Given the description of an element on the screen output the (x, y) to click on. 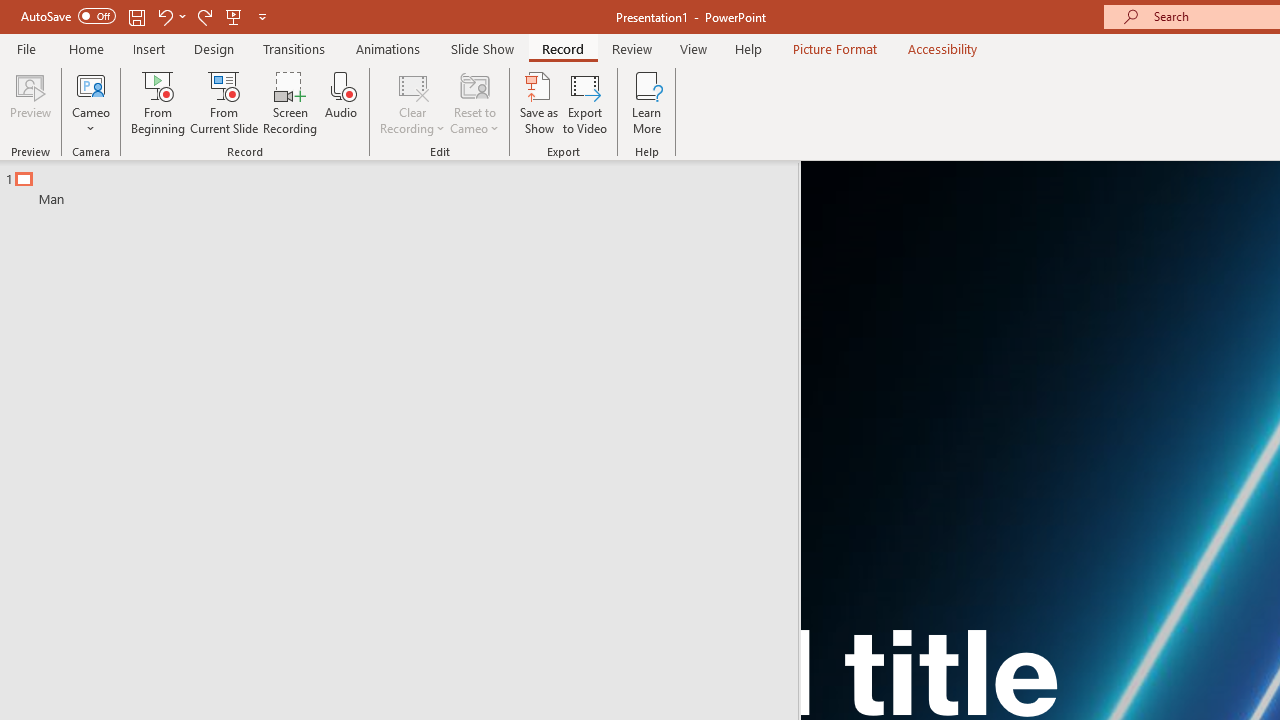
Picture Format (834, 48)
